Given the description of an element on the screen output the (x, y) to click on. 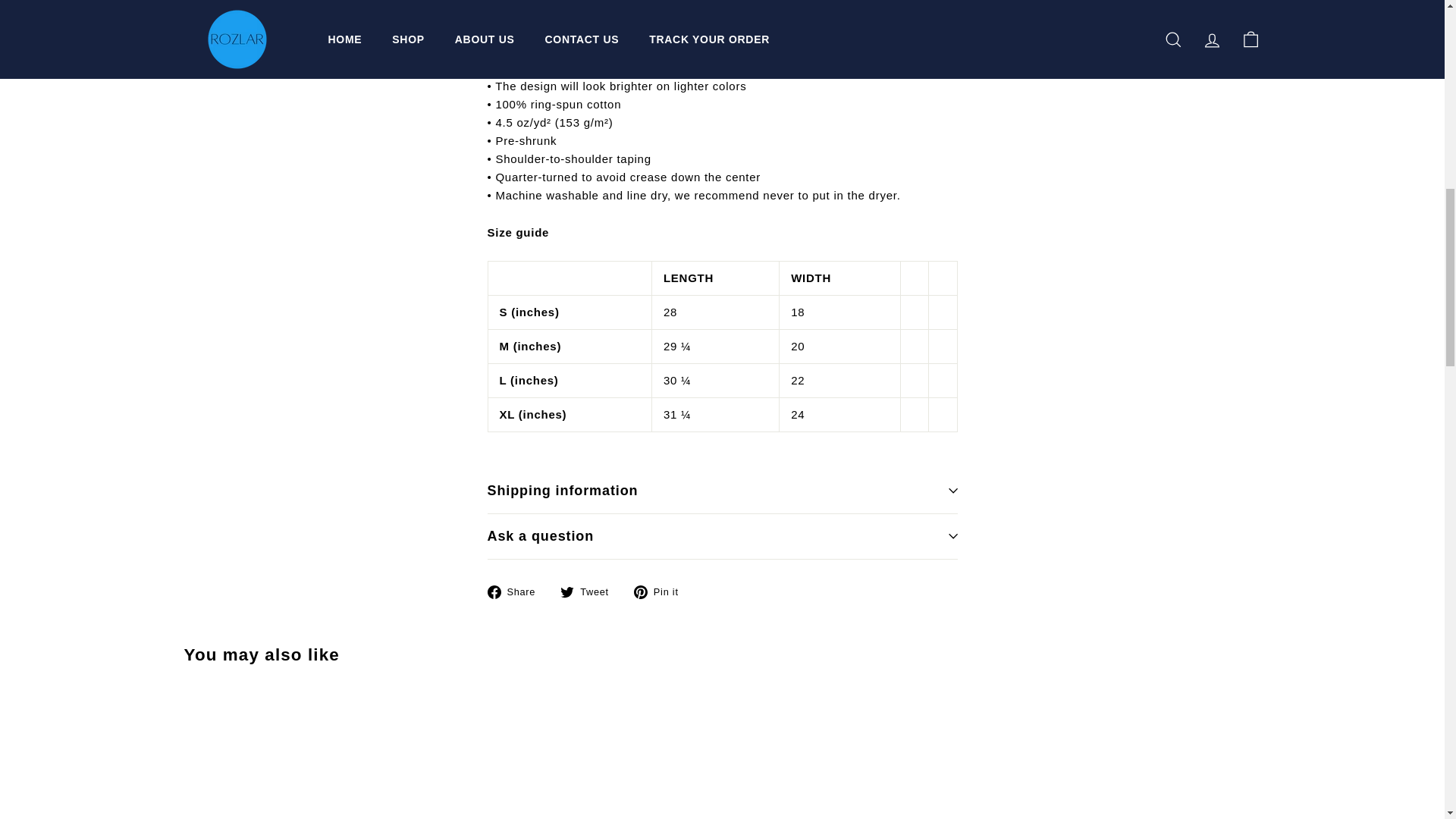
Share on Facebook (516, 591)
Tweet on Twitter (590, 591)
Pin on Pinterest (661, 591)
